Given the description of an element on the screen output the (x, y) to click on. 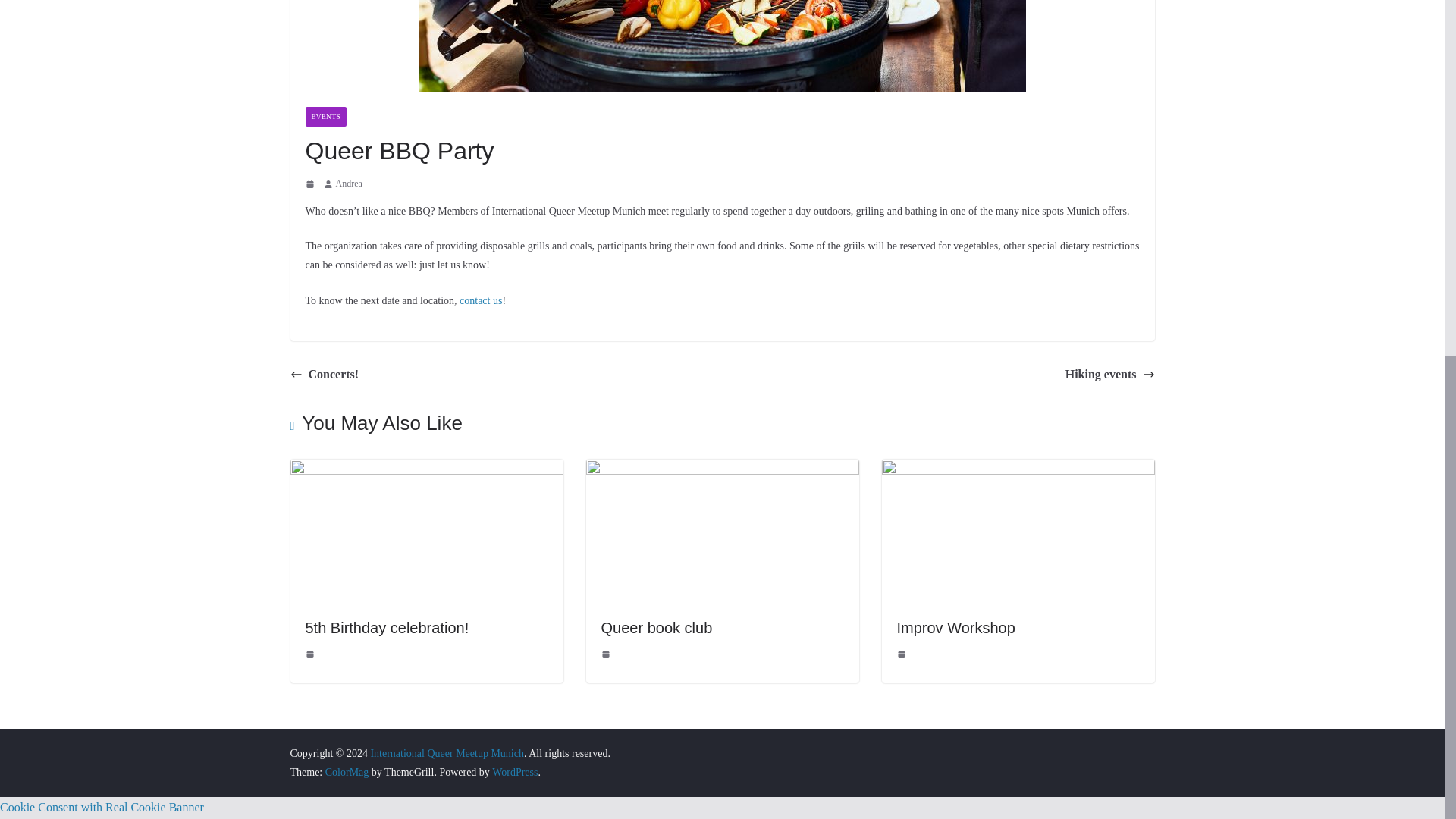
Queer book club (655, 627)
Concerts! (323, 374)
Hiking events (1109, 374)
Improv Workshop (955, 627)
EVENTS (325, 116)
Queer book club (722, 469)
Andrea (347, 184)
Improv Workshop (1017, 469)
5th Birthday celebration! (386, 627)
1:15 pm (310, 654)
